Given the description of an element on the screen output the (x, y) to click on. 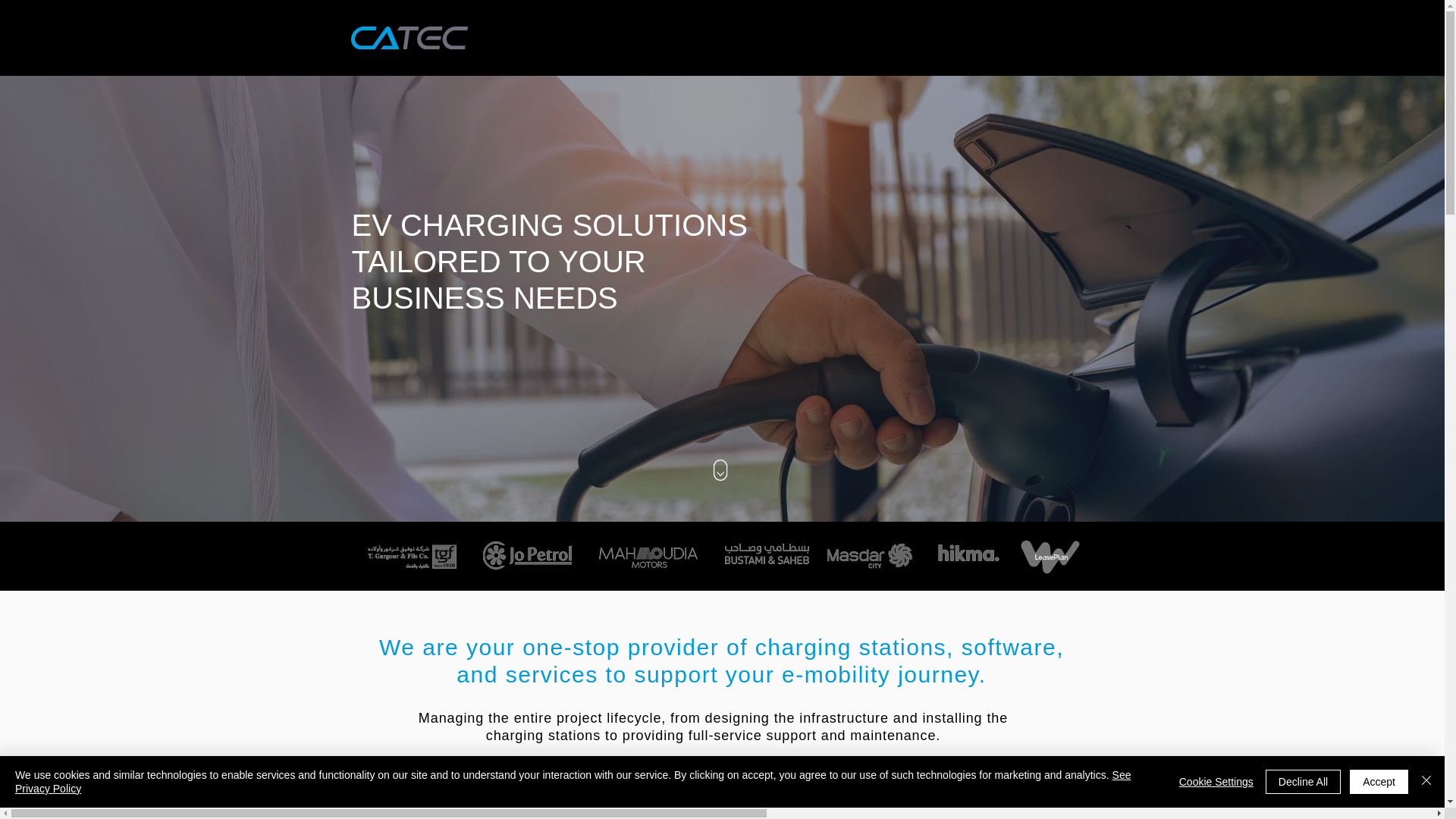
Consult our Experts (713, 802)
Accept (1378, 781)
Decline All (1302, 781)
See Privacy Policy (572, 781)
